Given the description of an element on the screen output the (x, y) to click on. 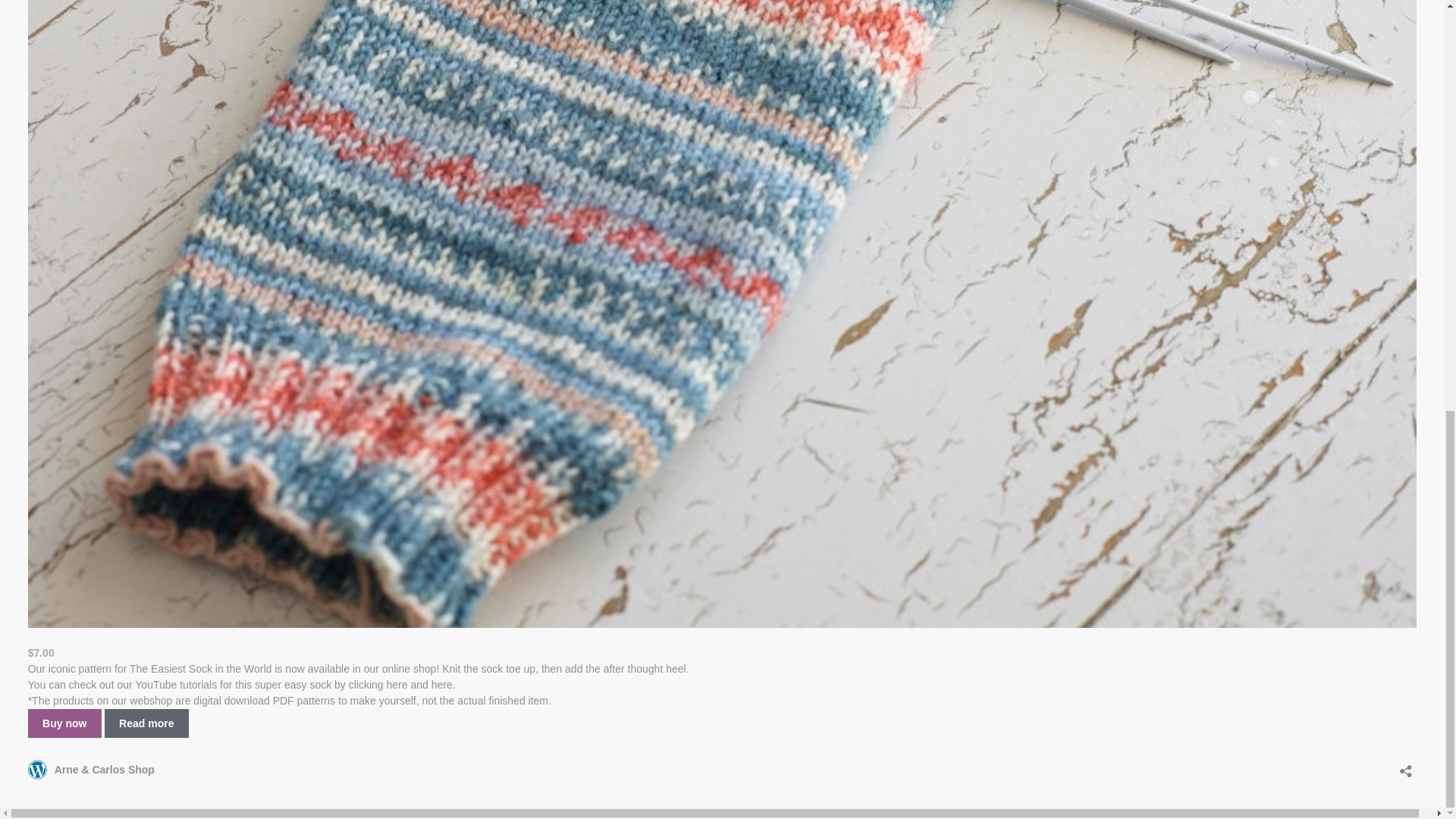
here. (442, 684)
Read more (146, 723)
here (397, 684)
Buy now (64, 723)
